Given the description of an element on the screen output the (x, y) to click on. 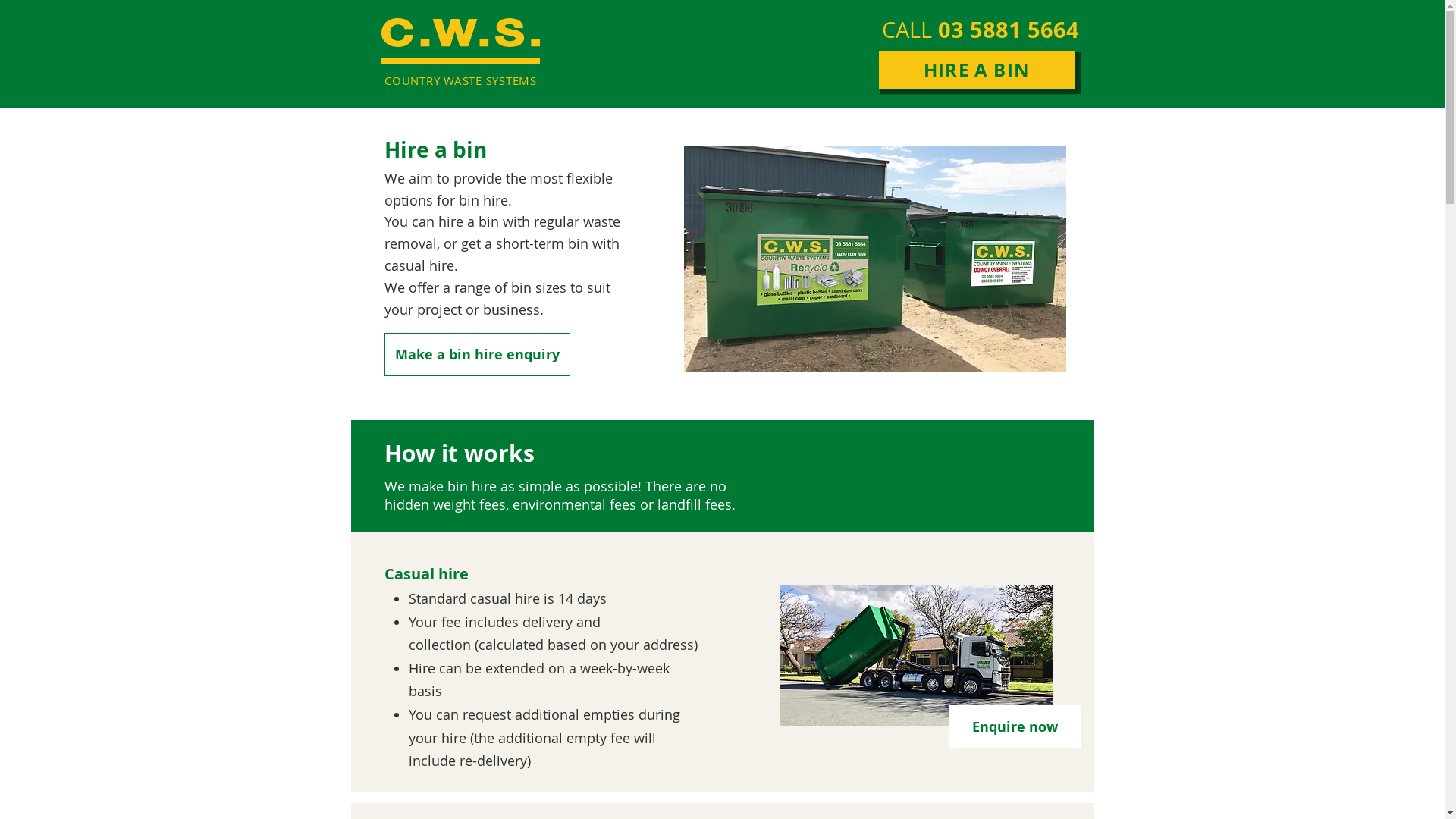
CALL 03 5881 5664 Element type: text (979, 29)
HIRE A BIN Element type: text (976, 69)
CWS Recycled Products Bin Mockup.jpg Element type: hover (875, 258)
Make a bin hire enquiry Element type: text (476, 354)
Enquire now Element type: text (1014, 726)
COUNTRY WASTE SYSTEMS Element type: text (460, 80)
